Given the description of an element on the screen output the (x, y) to click on. 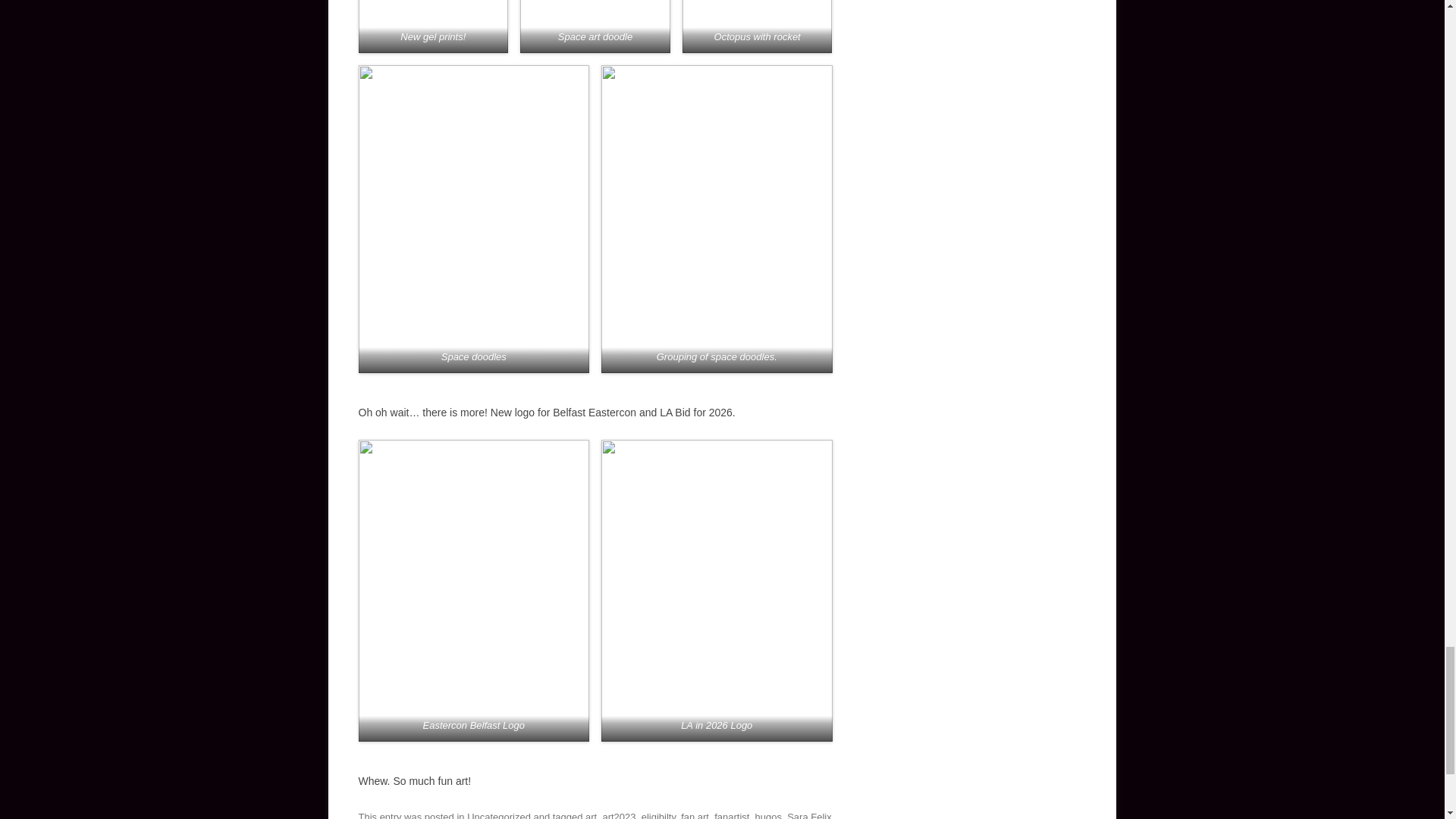
fan art (695, 815)
art (590, 815)
eligibilty (658, 815)
art2023 (618, 815)
Uncategorized (499, 815)
